Given the description of an element on the screen output the (x, y) to click on. 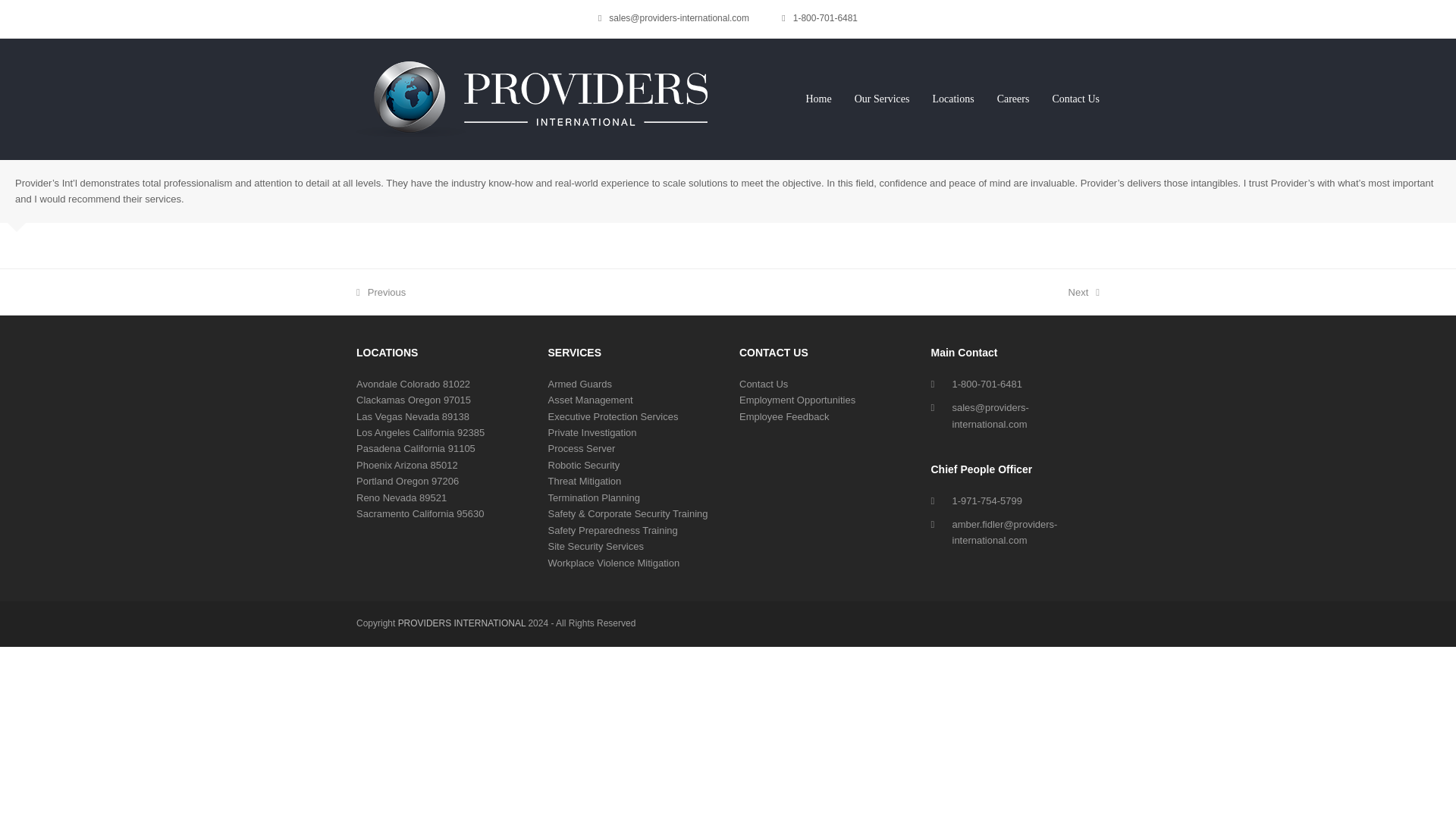
Our Services (882, 98)
1-800-701-6481 (825, 18)
Avondale Colorado 81022 (381, 292)
Home (413, 383)
Contact Us (818, 98)
Locations (1075, 98)
Careers (1083, 292)
